Given the description of an element on the screen output the (x, y) to click on. 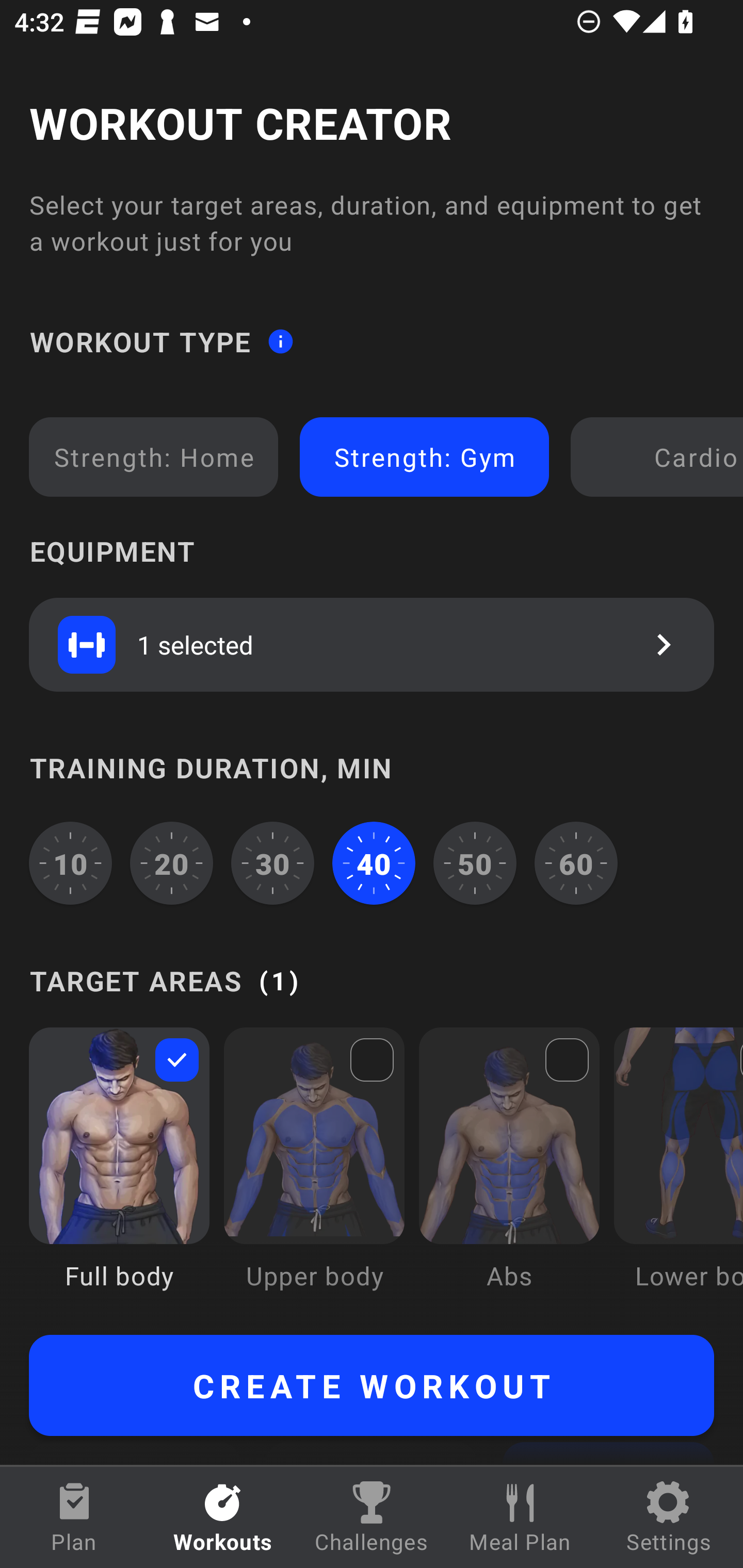
Workout type information button (280, 340)
Strength: Home (153, 457)
Cardio (660, 457)
1 selected (371, 644)
10 (70, 863)
20 (171, 863)
30 (272, 863)
40 (373, 863)
50 (474, 863)
60 (575, 863)
Upper body (313, 1172)
Abs (509, 1172)
Lower body (678, 1172)
CREATE WORKOUT (371, 1385)
 Plan  (74, 1517)
 Challenges  (371, 1517)
 Meal Plan  (519, 1517)
 Settings  (668, 1517)
